Given the description of an element on the screen output the (x, y) to click on. 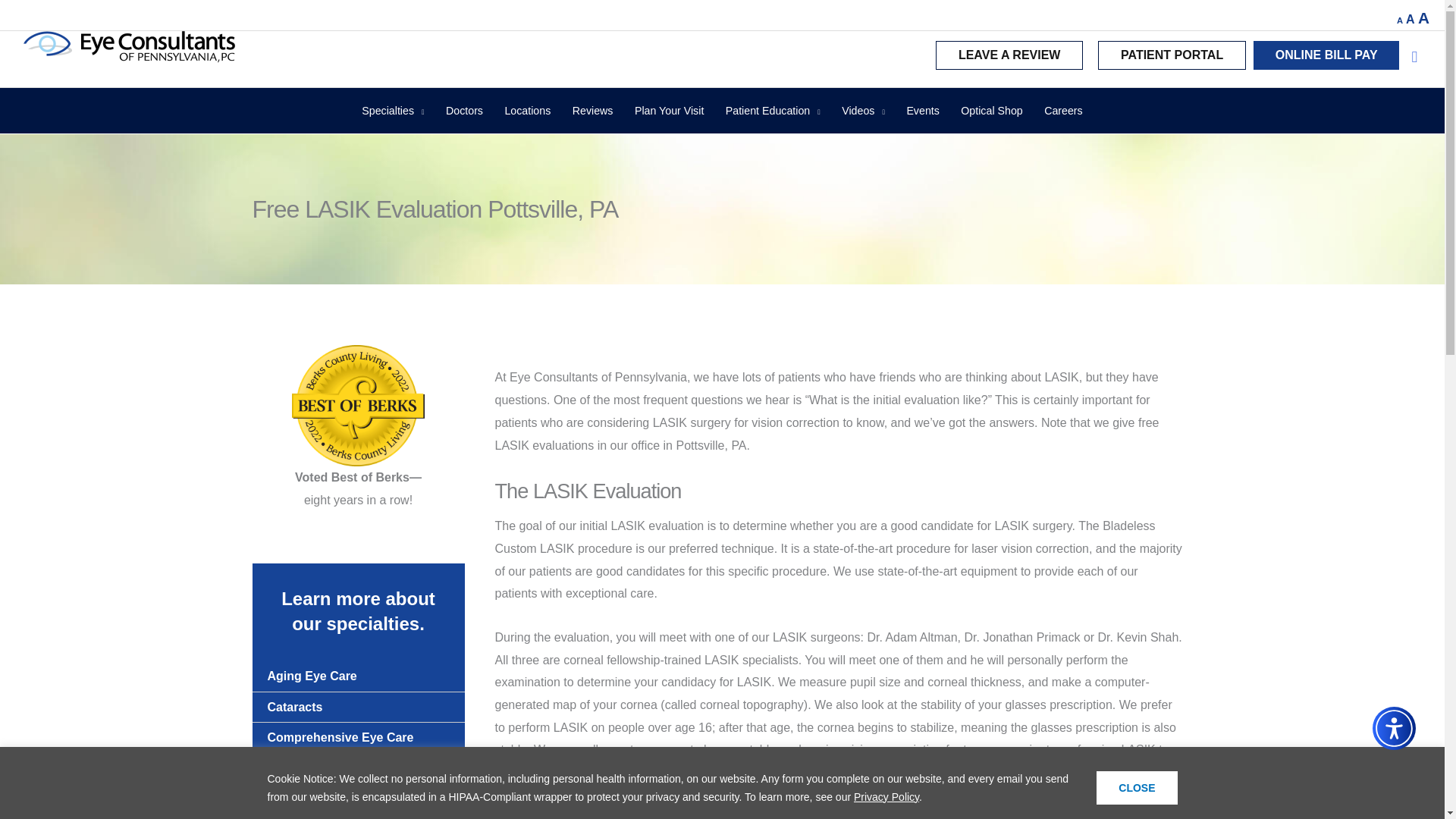
Privacy Policy (885, 796)
best-of-berks-2022 (358, 405)
ONLINE BILL PAY (1326, 54)
PATIENT PORTAL (1171, 54)
CLOSE (1136, 786)
Accessibility Menu (1394, 728)
LEAVE A REVIEW (1009, 54)
Page 1 (357, 488)
